Given the description of an element on the screen output the (x, y) to click on. 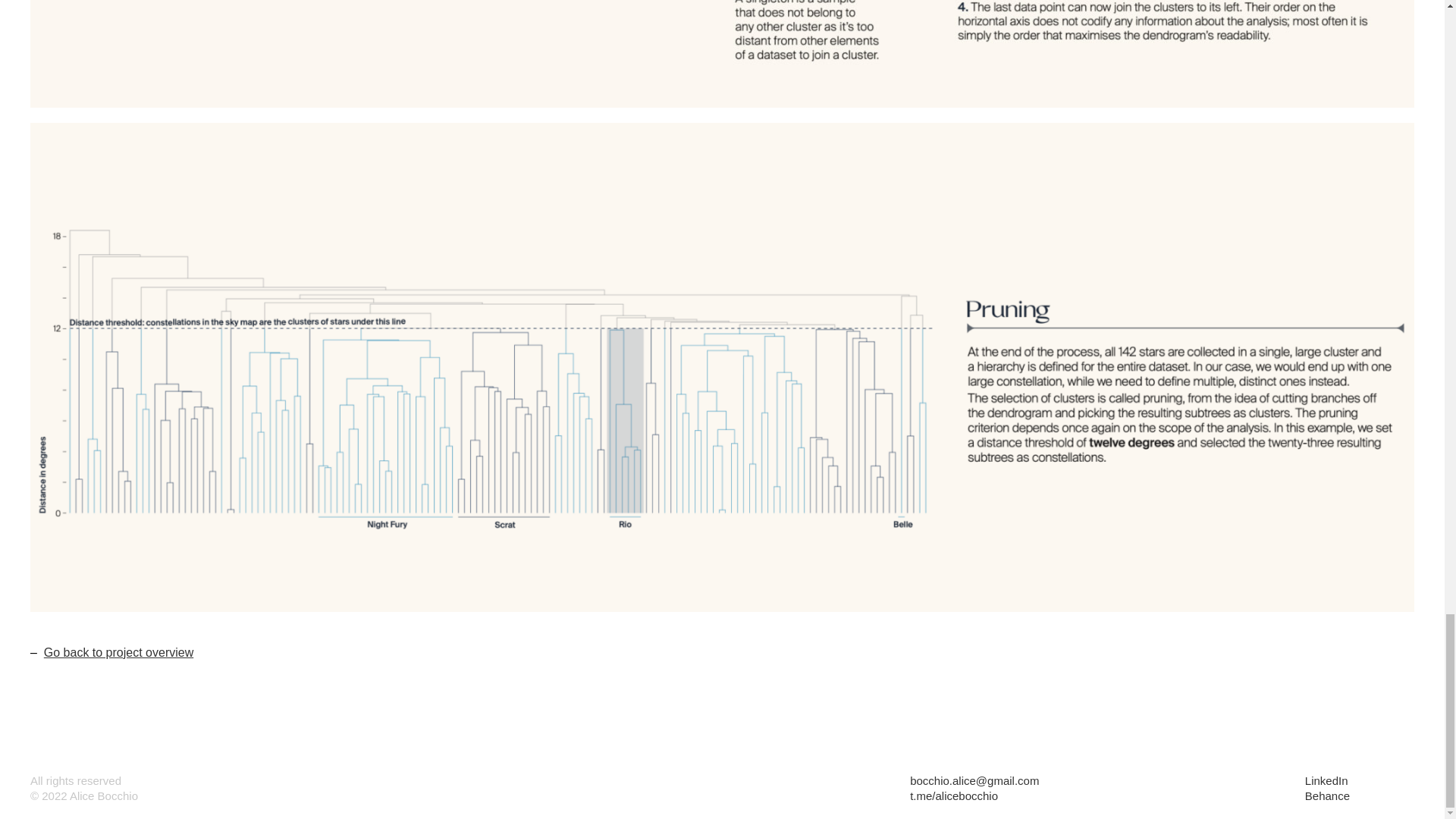
LinkedIn (1326, 780)
Go back to project overview (118, 652)
Behance (1326, 795)
